Given the description of an element on the screen output the (x, y) to click on. 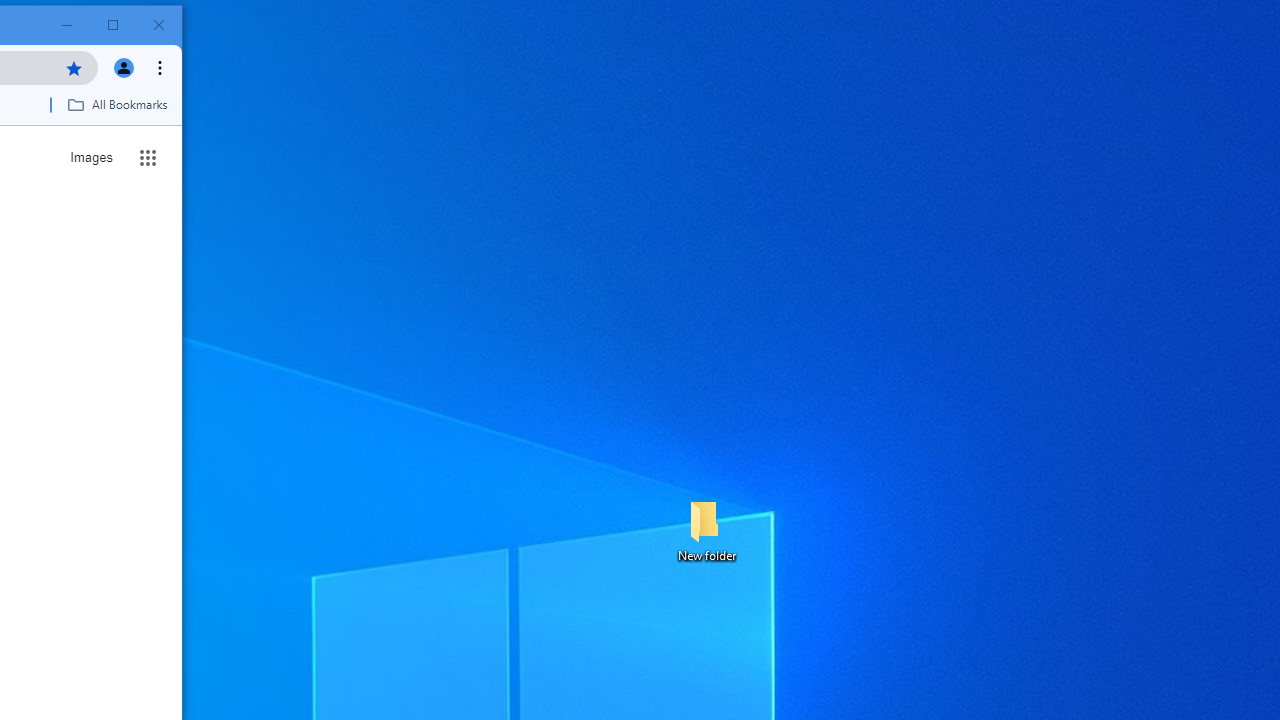
New folder (706, 530)
